Given the description of an element on the screen output the (x, y) to click on. 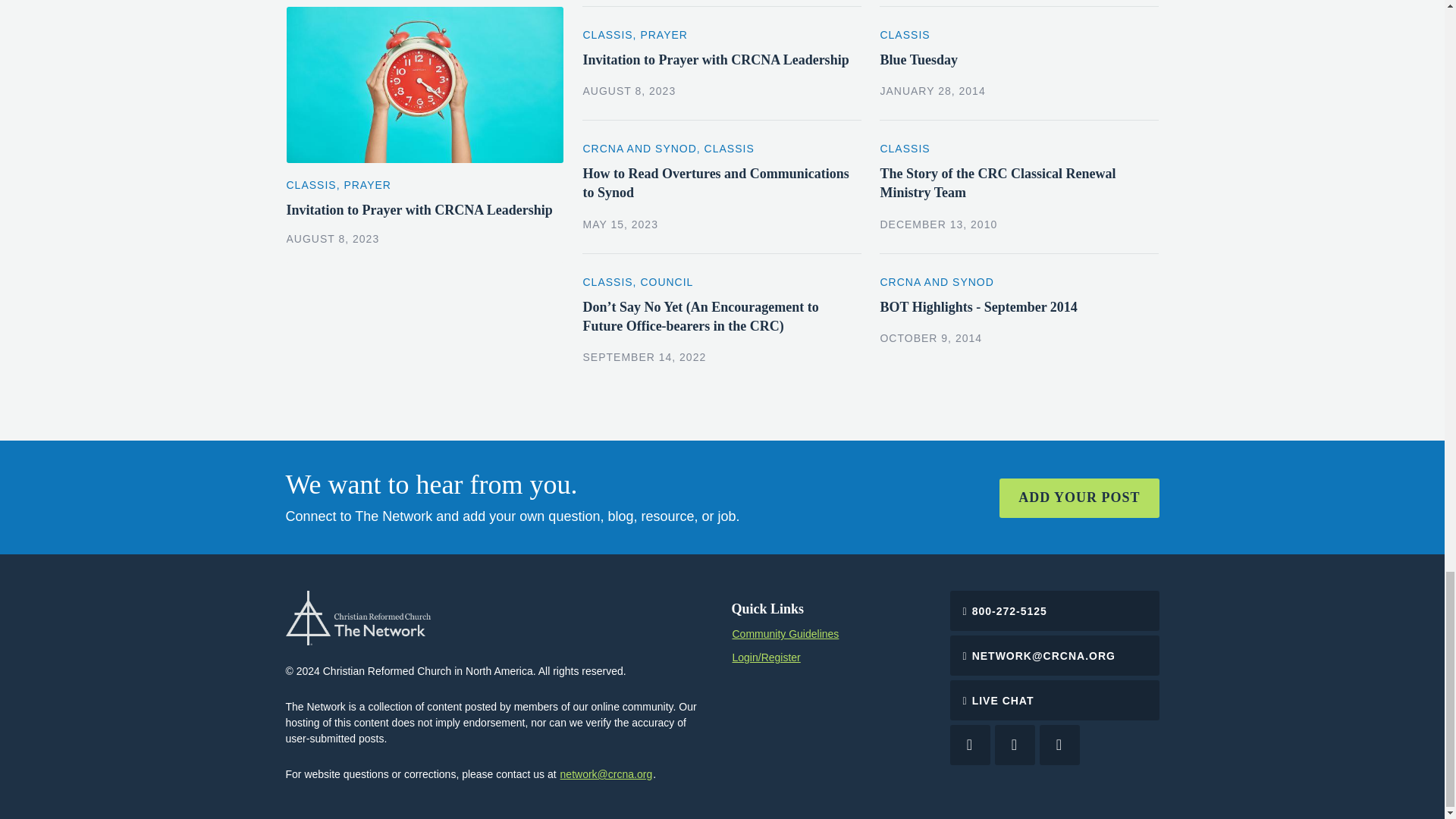
Photo by Malvestida on Unsplash (425, 84)
